Given the description of an element on the screen output the (x, y) to click on. 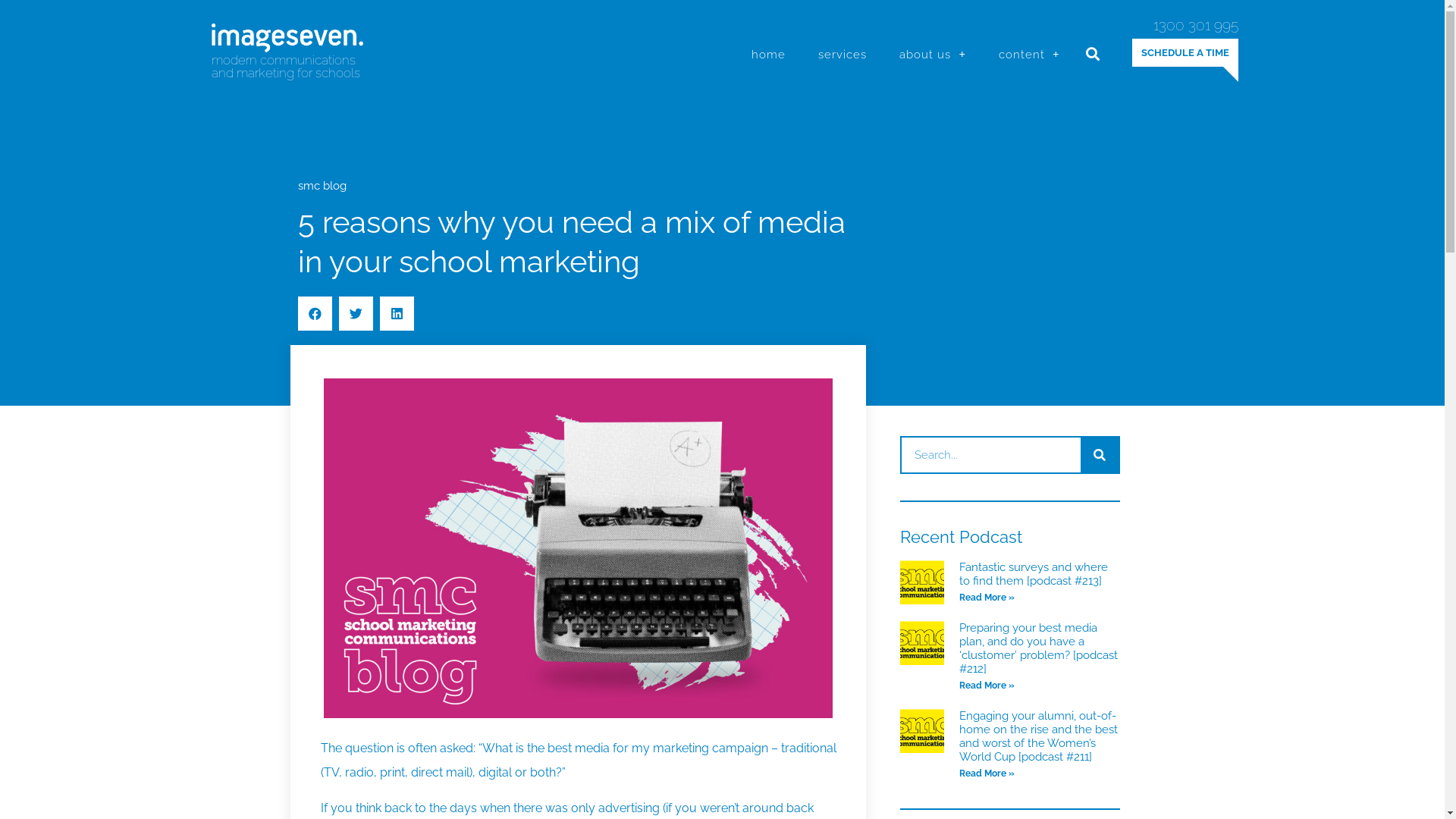
smc blog Element type: text (321, 185)
SCHEDULE A TIME Element type: text (1184, 52)
content Element type: text (1029, 54)
home Element type: text (768, 54)
about us Element type: text (932, 54)
services Element type: text (842, 54)
Fantastic surveys and where to find them [podcast #213] Element type: text (1033, 573)
1300 301 995 Element type: text (1194, 24)
